Given the description of an element on the screen output the (x, y) to click on. 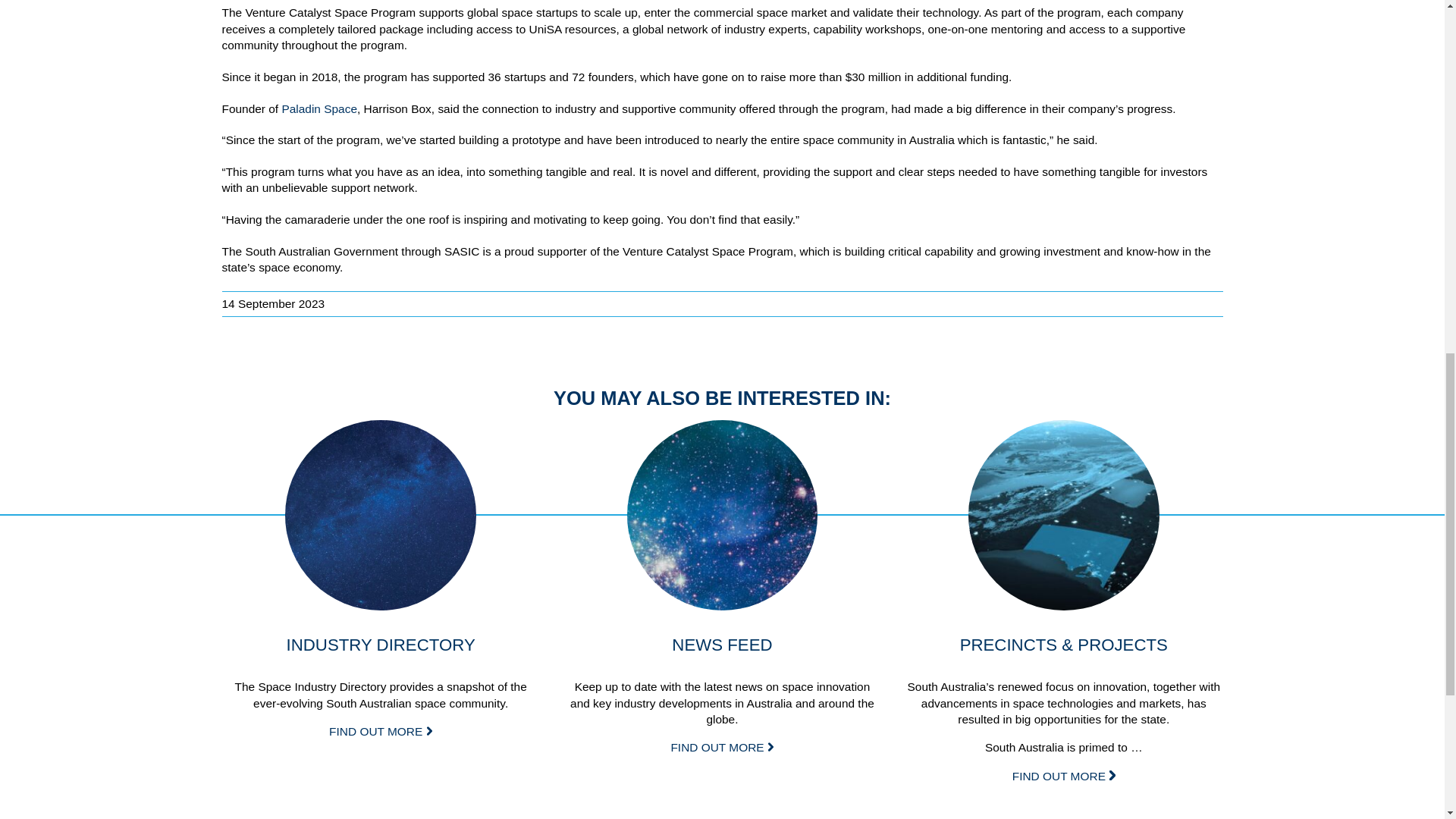
View: INDUSTRY DIRECTORY (380, 515)
View: INDUSTRY DIRECTORY (380, 730)
View: News Feed (721, 747)
View: News Feed (722, 515)
